Given the description of an element on the screen output the (x, y) to click on. 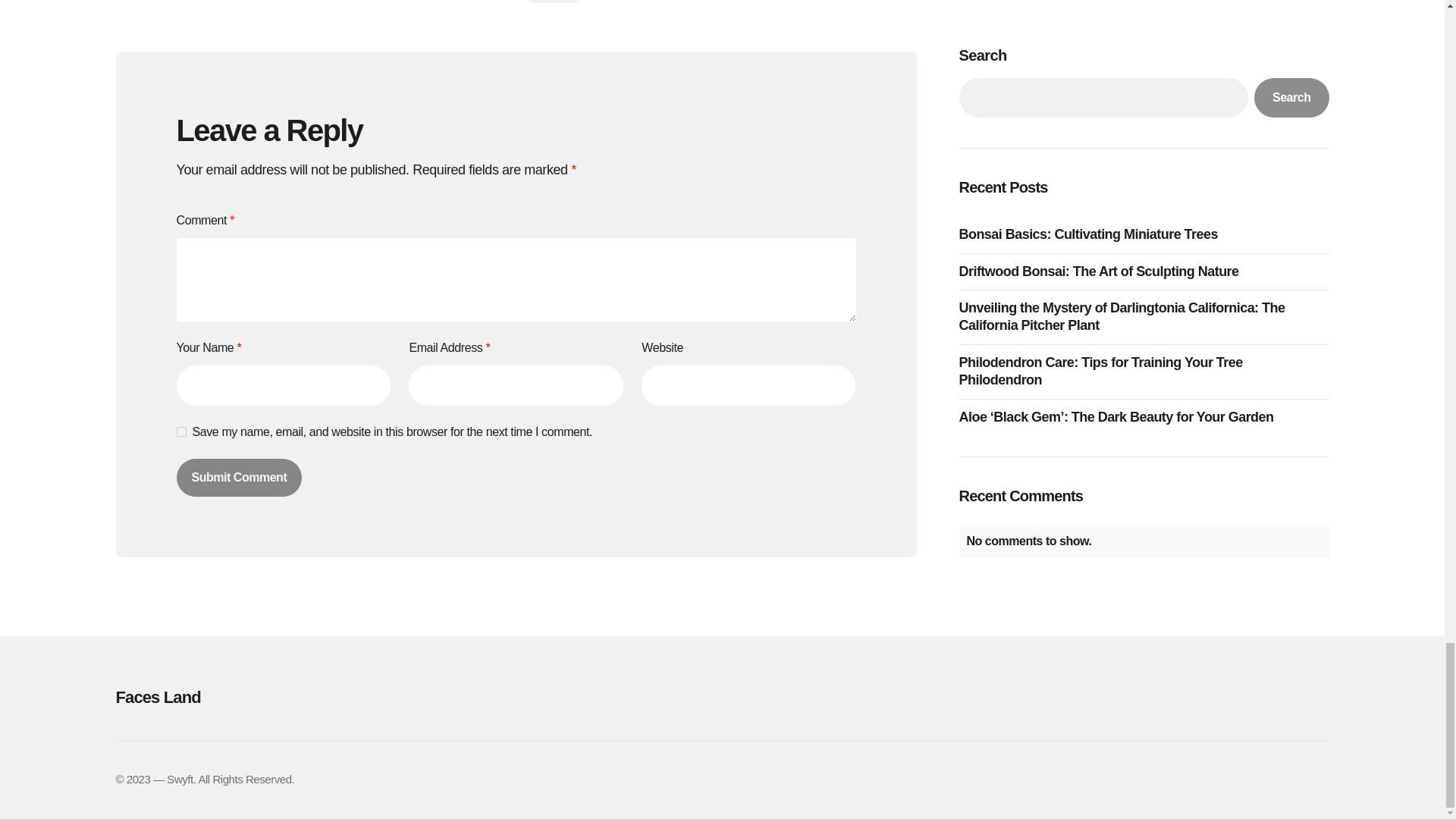
Bonsai (552, 1)
Faces Land (305, 697)
Submit Comment (238, 477)
yes (181, 431)
